Given the description of an element on the screen output the (x, y) to click on. 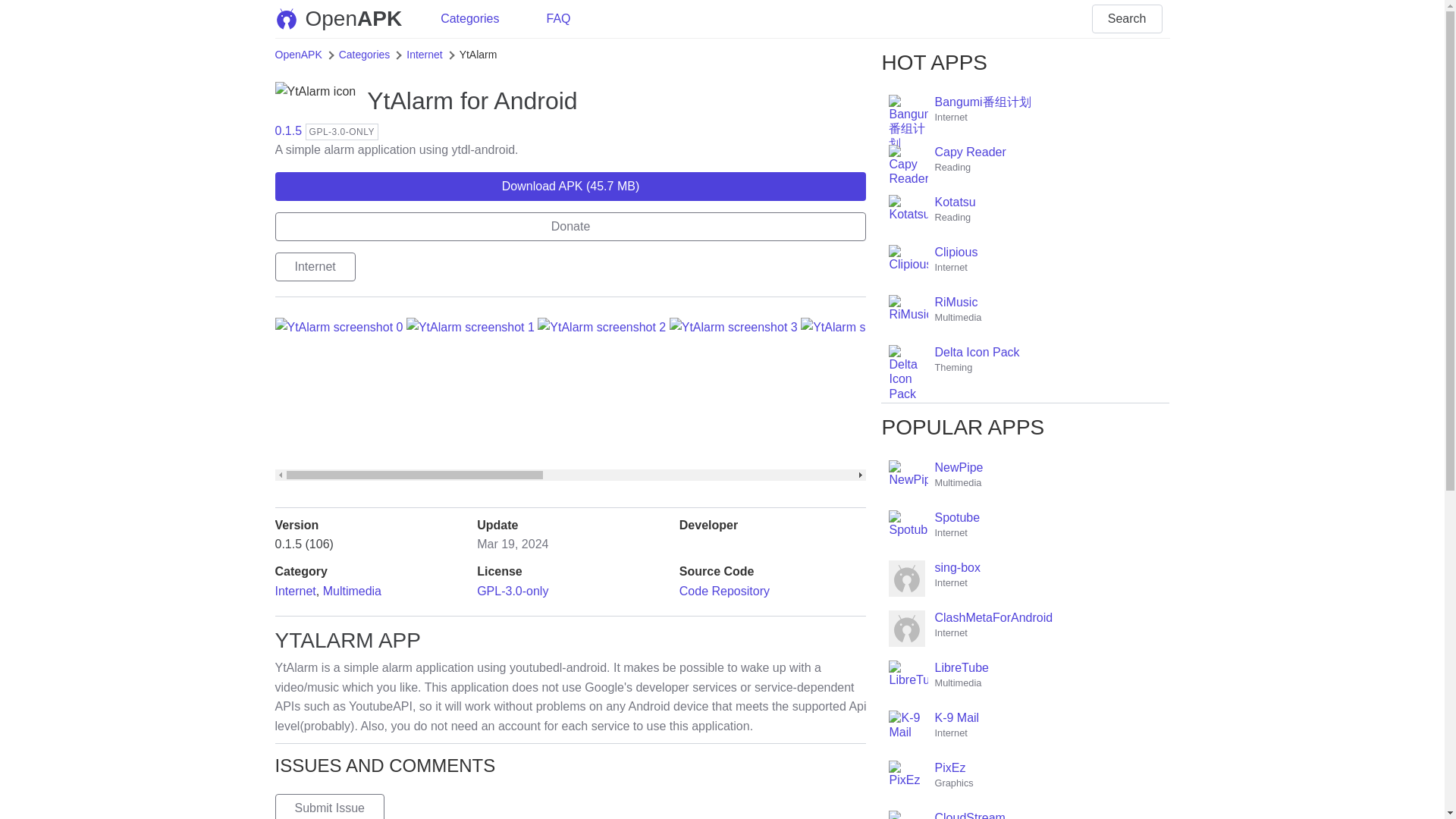
YtAlarm (409, 100)
Donate to developer (345, 18)
FAQ (570, 226)
Code Repository (558, 18)
Categories (724, 590)
Submit Issue (364, 54)
Donate (329, 806)
Internet (570, 226)
Categories (295, 590)
GPL-3.0-only (470, 18)
OpenAPK (512, 590)
Multimedia (298, 54)
Search (352, 590)
Internet (1126, 18)
